Given the description of an element on the screen output the (x, y) to click on. 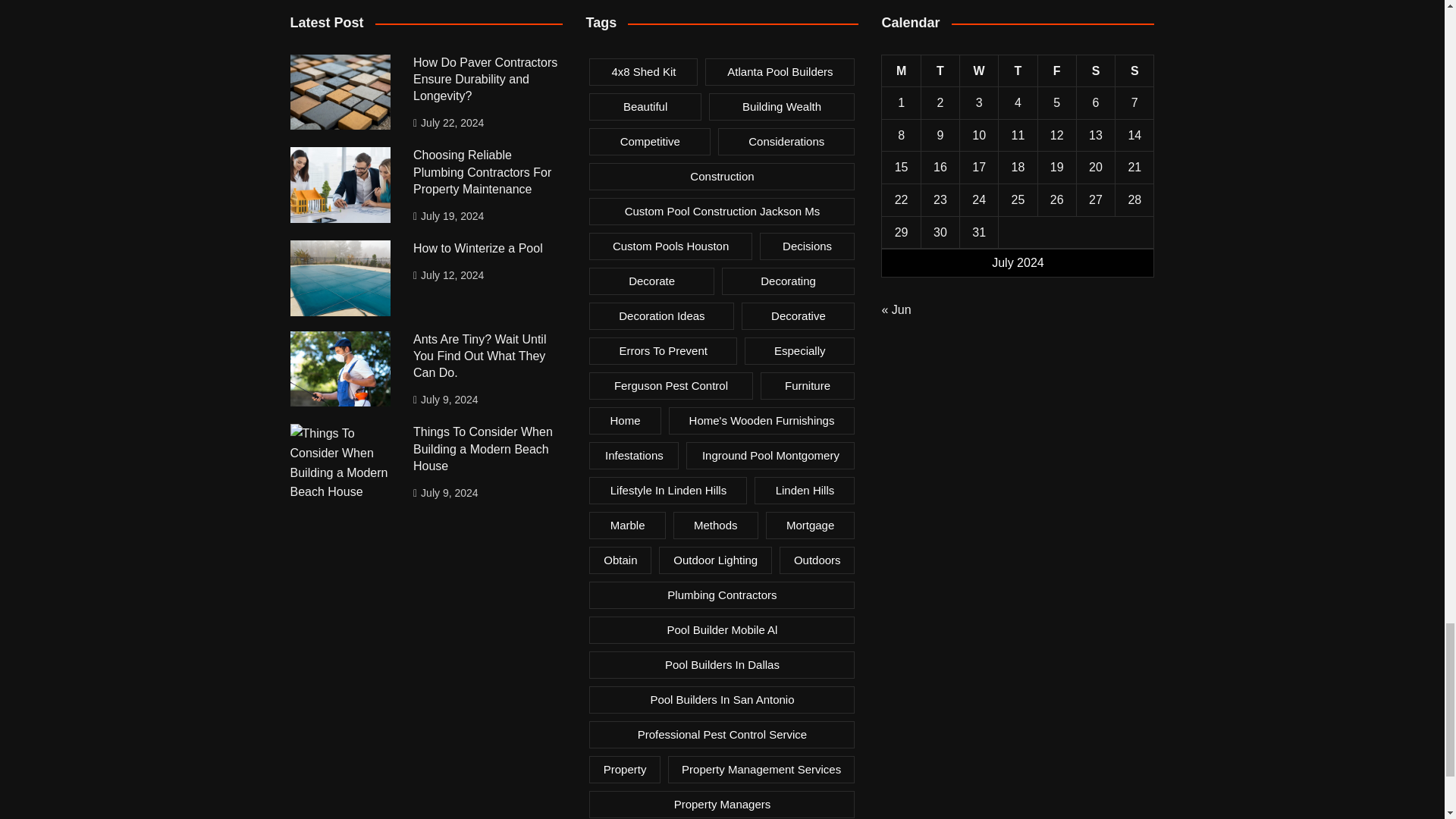
Sunday (1134, 70)
Wednesday (978, 70)
Tuesday (939, 70)
Friday (1055, 70)
Thursday (1017, 70)
Saturday (1095, 70)
Monday (901, 70)
